Given the description of an element on the screen output the (x, y) to click on. 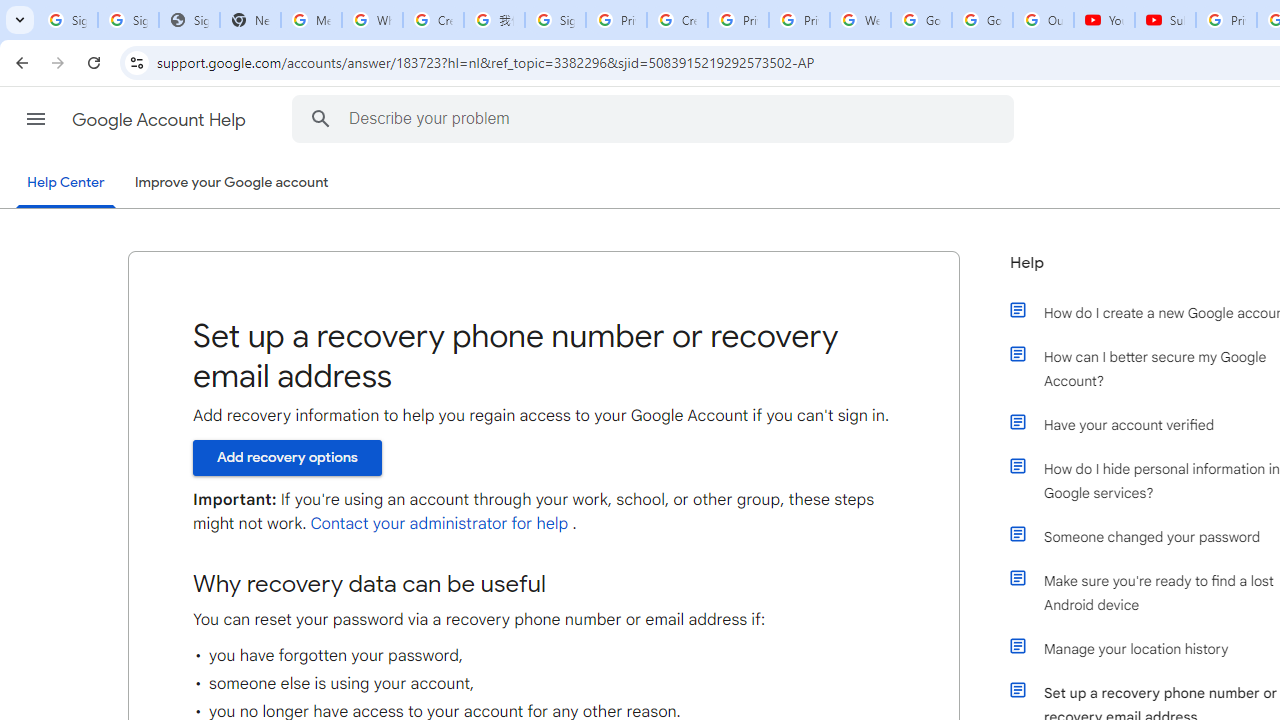
Welcome to My Activity (859, 20)
Sign In - USA TODAY (189, 20)
Sign in - Google Accounts (128, 20)
New Tab (250, 20)
Describe your problem (655, 118)
Create your Google Account (433, 20)
Sign in - Google Accounts (555, 20)
